Given the description of an element on the screen output the (x, y) to click on. 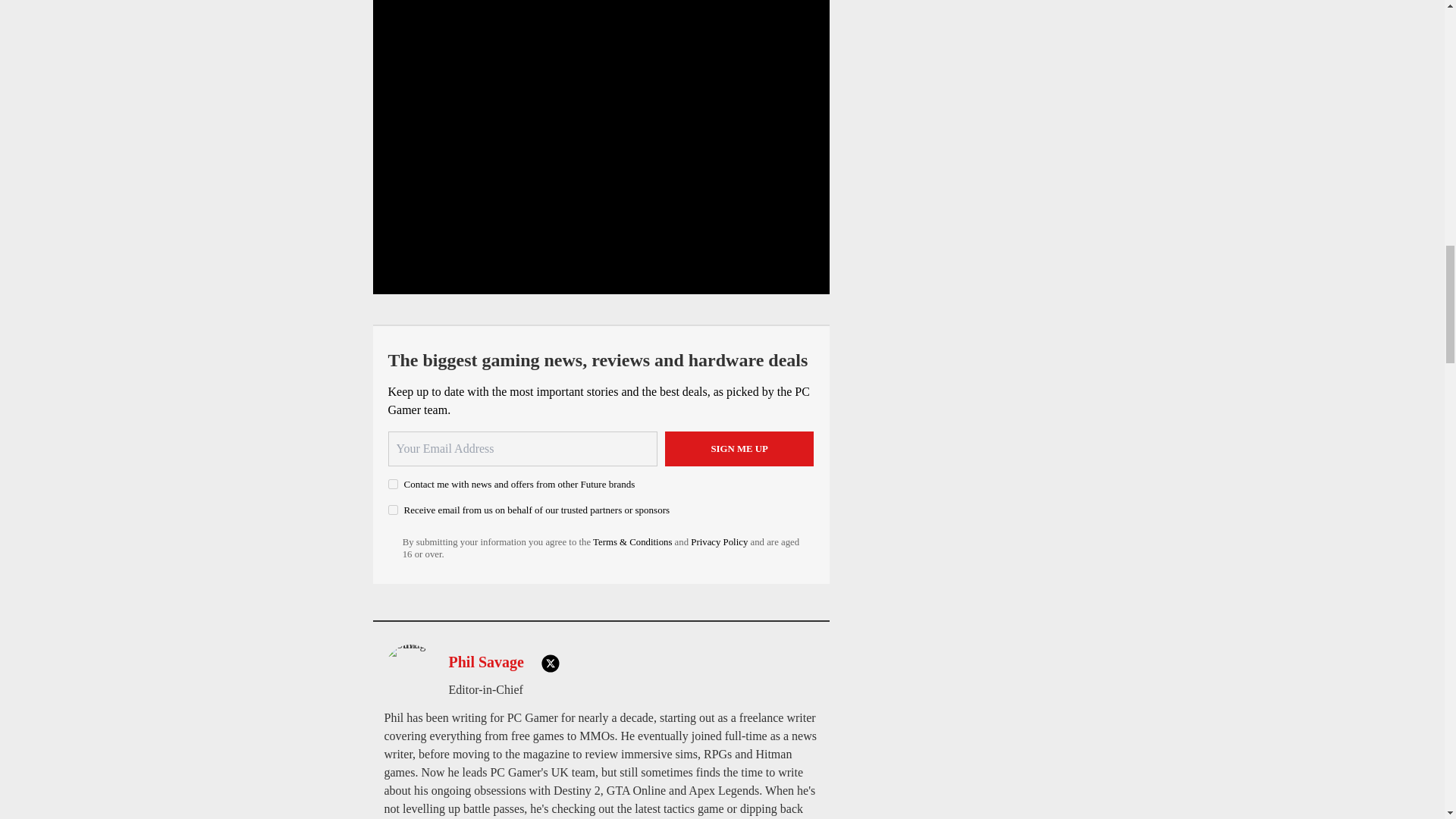
on (392, 483)
Sign me up (739, 448)
on (392, 510)
